Given the description of an element on the screen output the (x, y) to click on. 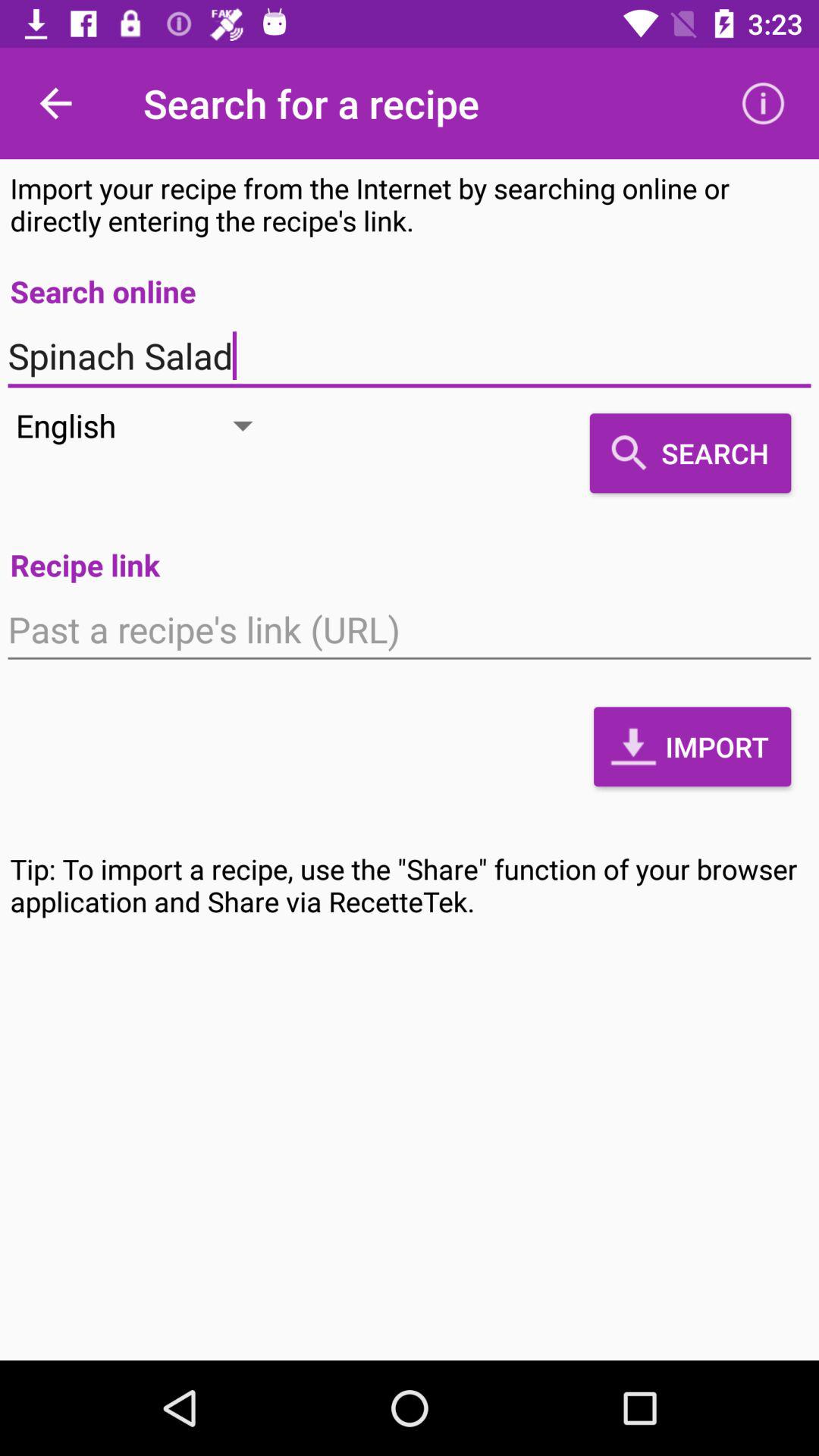
enter the recipe link (409, 630)
